Given the description of an element on the screen output the (x, y) to click on. 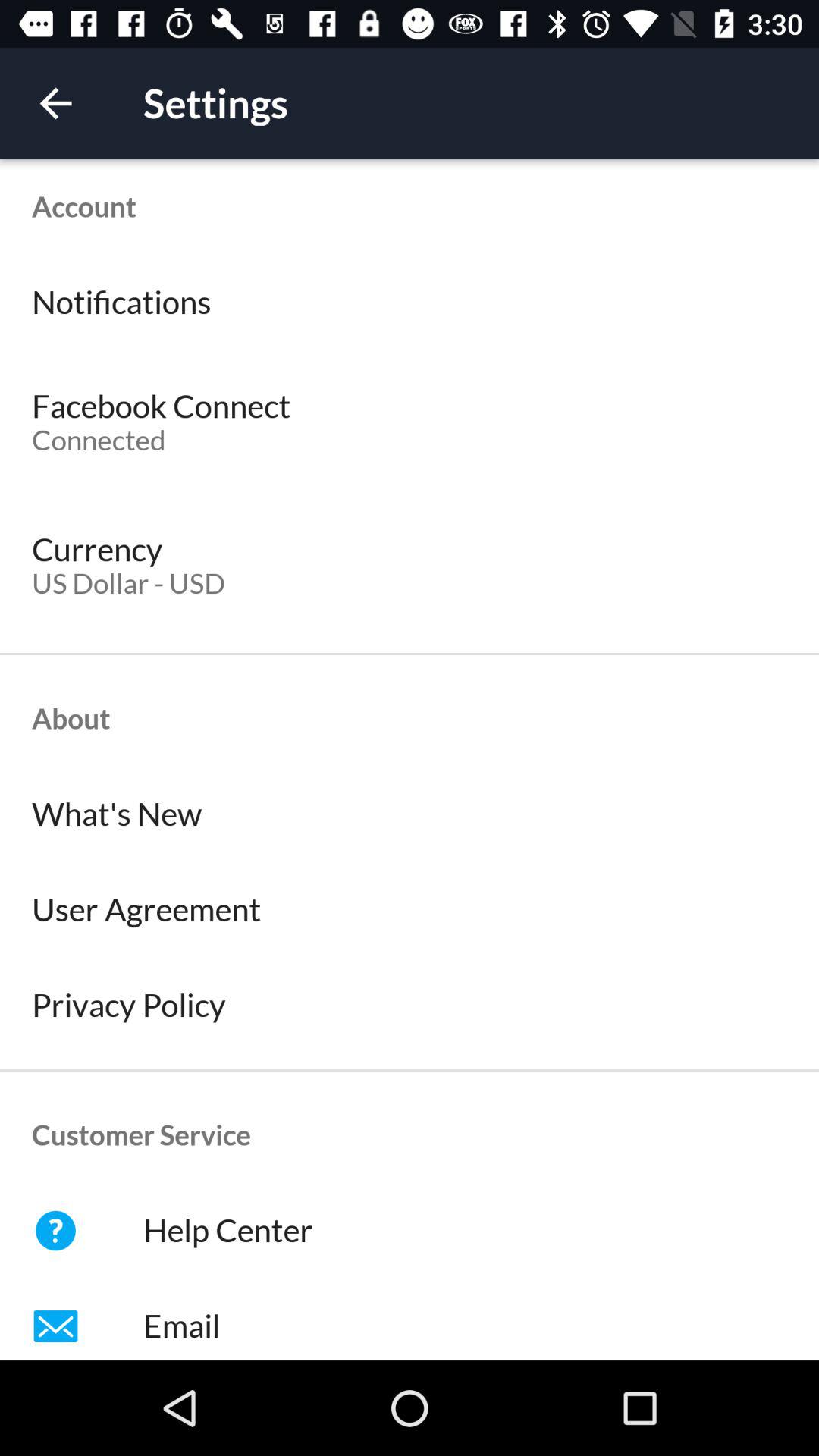
turn on icon above email (409, 1230)
